Given the description of an element on the screen output the (x, y) to click on. 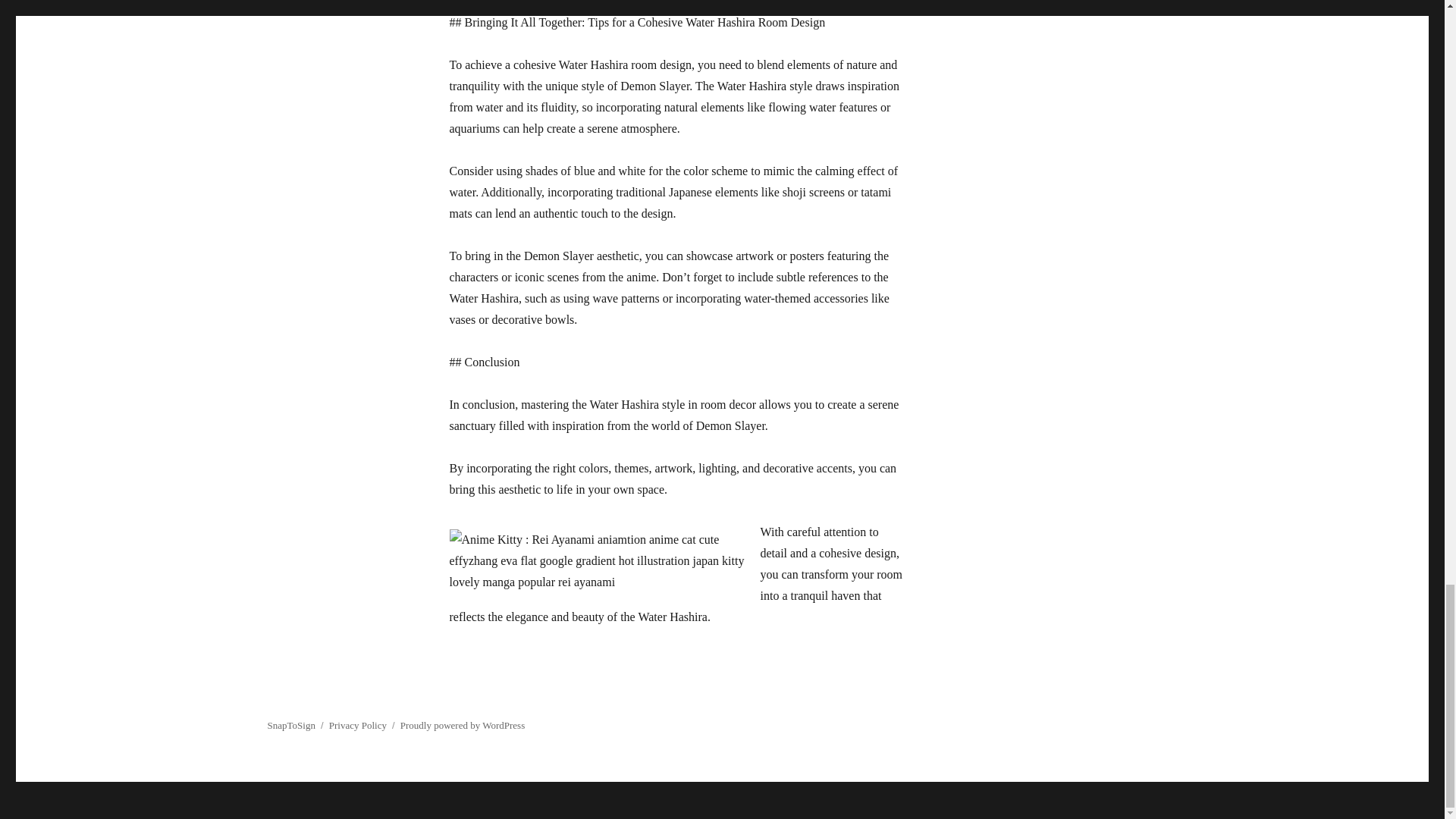
Proudly powered by WordPress (462, 725)
Privacy Policy (358, 725)
SnapToSign (290, 725)
